Given the description of an element on the screen output the (x, y) to click on. 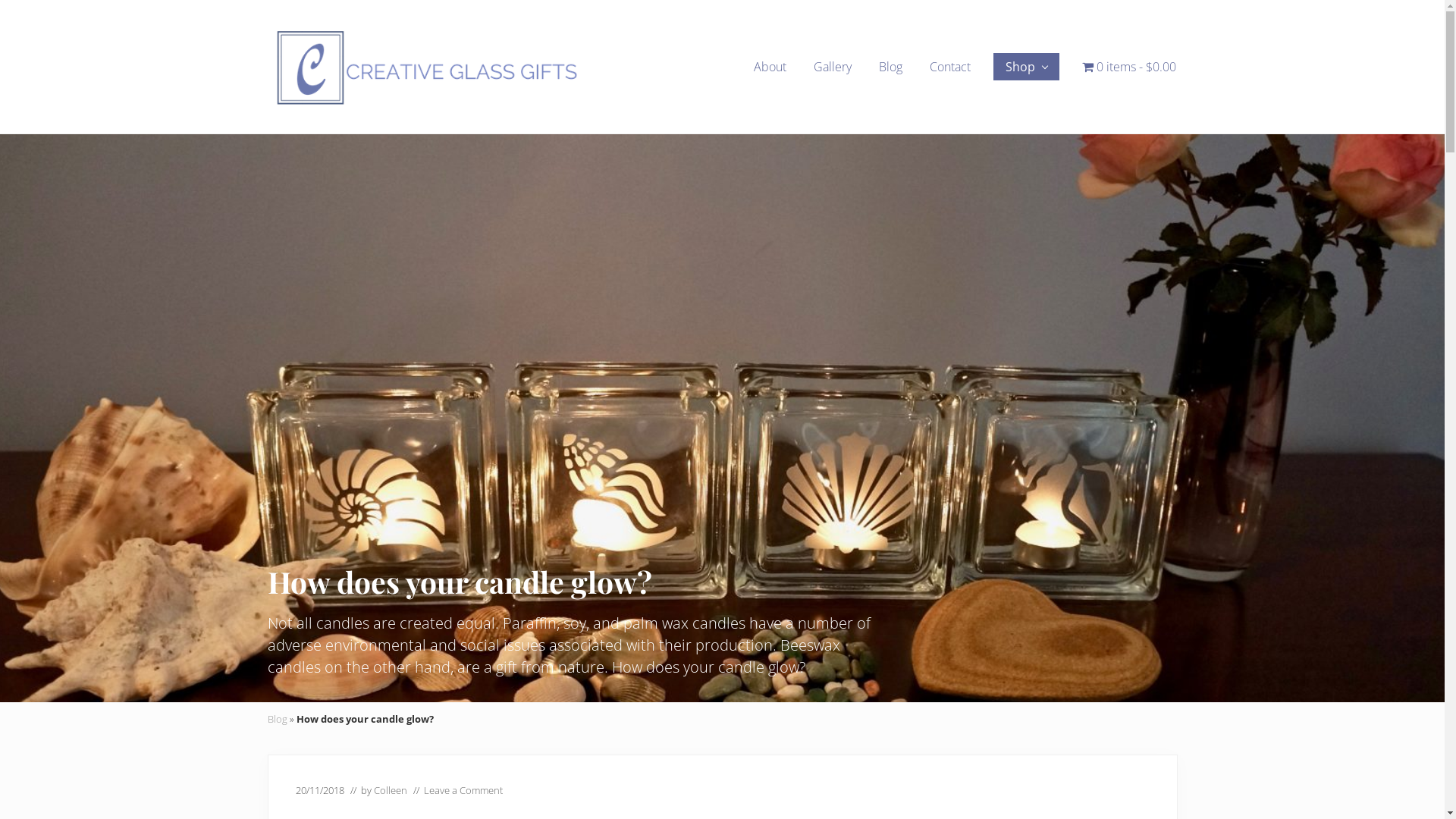
Leave a Comment Element type: text (462, 790)
Gallery Element type: text (831, 66)
Skip to right header navigation Element type: text (0, 0)
0 items
$0.00 Element type: text (1128, 66)
Blog Element type: text (889, 66)
Colleen Element type: text (389, 790)
About Element type: text (769, 66)
Blog Element type: text (276, 718)
Shop Element type: text (1026, 66)
Contact Element type: text (949, 66)
